Given the description of an element on the screen output the (x, y) to click on. 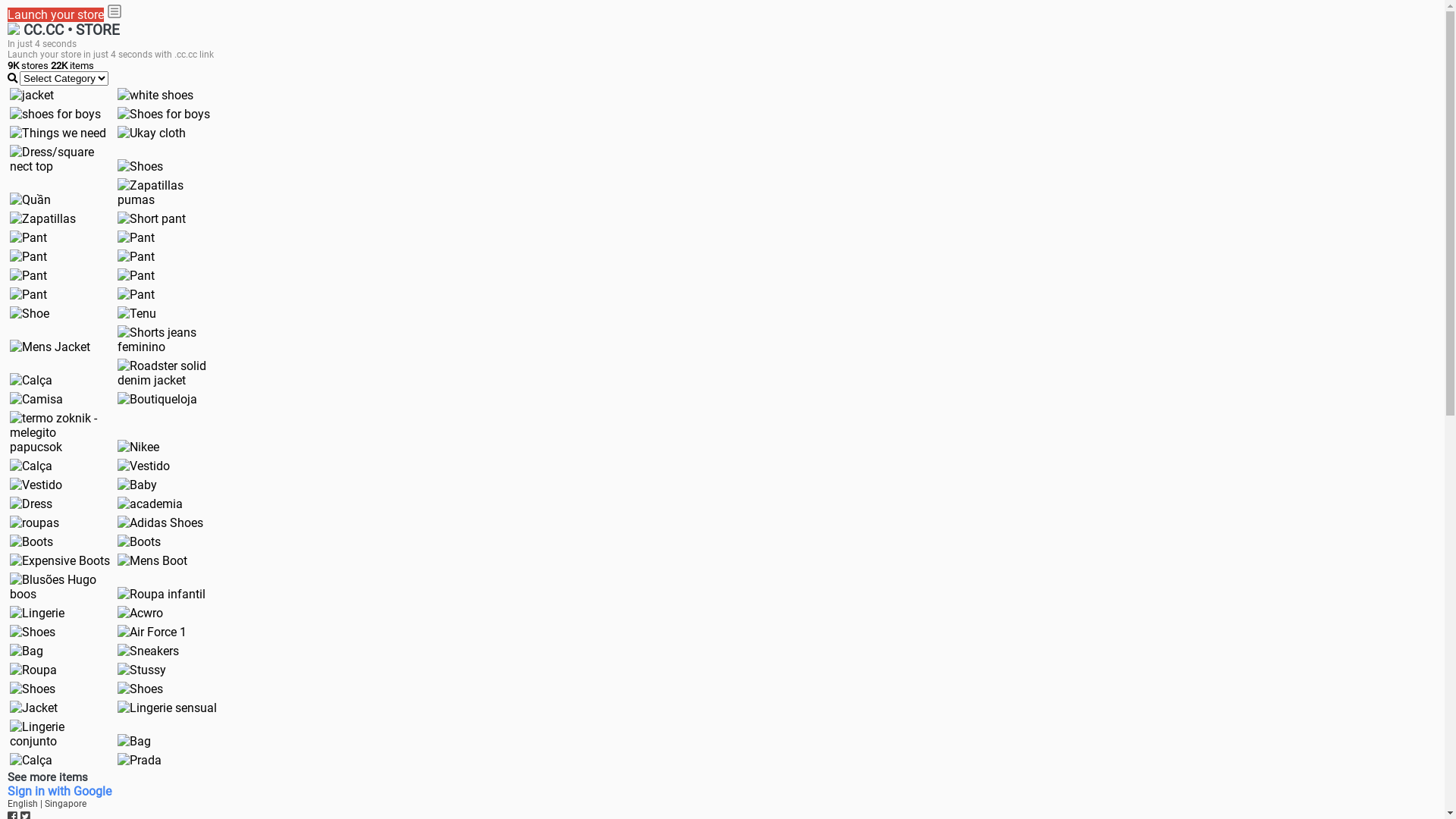
Pant Element type: hover (135, 237)
See more items Element type: text (47, 776)
Jacket Element type: hover (33, 707)
Nikee Element type: hover (138, 446)
Boots Element type: hover (31, 541)
white shoes Element type: hover (155, 94)
roupas Element type: hover (34, 522)
Sign in with Google Element type: text (59, 791)
Adidas Shoes Element type: hover (160, 522)
Air Force 1 Element type: hover (151, 631)
Shoes Element type: hover (140, 688)
academia Element type: hover (149, 503)
Tenu Element type: hover (136, 313)
Boots Element type: hover (138, 541)
Short pant Element type: hover (151, 218)
Pant Element type: hover (135, 275)
Boutiqueloja Element type: hover (157, 399)
Shoes Element type: hover (32, 688)
Lingerie sensual Element type: hover (166, 707)
Vestido Element type: hover (35, 484)
Shoes Element type: hover (140, 166)
Things we need Element type: hover (57, 132)
Bag Element type: hover (133, 741)
Roupa infantil Element type: hover (161, 593)
Roupa Element type: hover (32, 669)
Shoes for boys Element type: hover (163, 113)
Pant Element type: hover (28, 294)
Pant Element type: hover (135, 256)
Camisa Element type: hover (35, 399)
Mens Boot Element type: hover (152, 560)
Shoe Element type: hover (29, 313)
Pant Element type: hover (135, 294)
Shoes Element type: hover (32, 631)
Acwro Element type: hover (140, 612)
Stussy Element type: hover (141, 669)
termo zoknik - melegito papucsok Element type: hover (59, 432)
Pant Element type: hover (28, 275)
Ukay cloth Element type: hover (151, 132)
Lingerie conjunto Element type: hover (59, 733)
Vestido Element type: hover (143, 465)
Shorts jeans feminino Element type: hover (167, 339)
Singapore Element type: text (65, 803)
Lingerie Element type: hover (36, 612)
Baby Element type: hover (136, 484)
English Element type: text (23, 803)
Zapatillas Element type: hover (42, 218)
Sneakers Element type: hover (147, 650)
Bag Element type: hover (26, 650)
Launch your store Element type: text (55, 14)
Prada Element type: hover (139, 760)
Pant Element type: hover (28, 237)
shoes for boys Element type: hover (54, 113)
Roadster solid denim jacket Element type: hover (167, 372)
Expensive Boots Element type: hover (59, 560)
Dress Element type: hover (30, 503)
Mens Jacket Element type: hover (49, 346)
jacket Element type: hover (31, 94)
Dress/square nect top Element type: hover (59, 158)
Zapatillas pumas Element type: hover (167, 192)
Pant Element type: hover (28, 256)
